Given the description of an element on the screen output the (x, y) to click on. 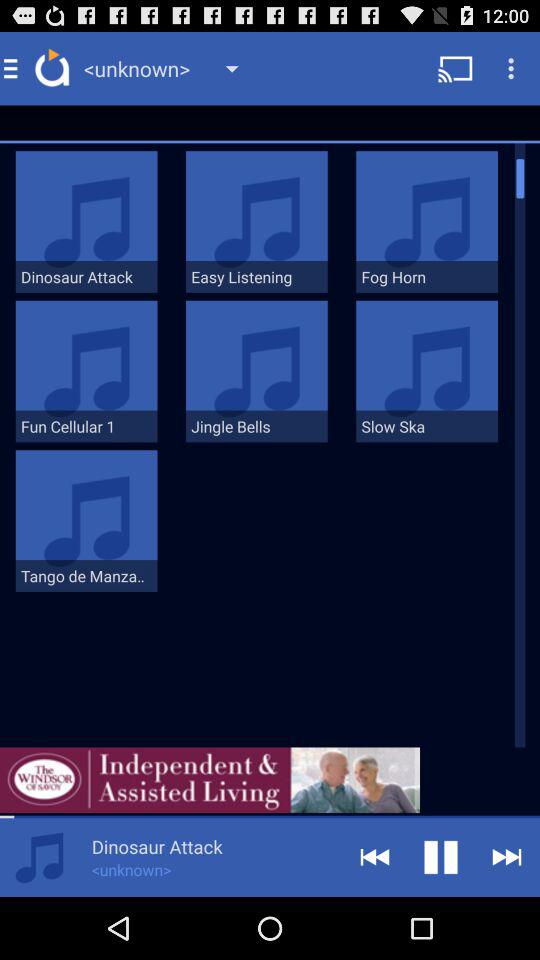
go to music (39, 857)
